Given the description of an element on the screen output the (x, y) to click on. 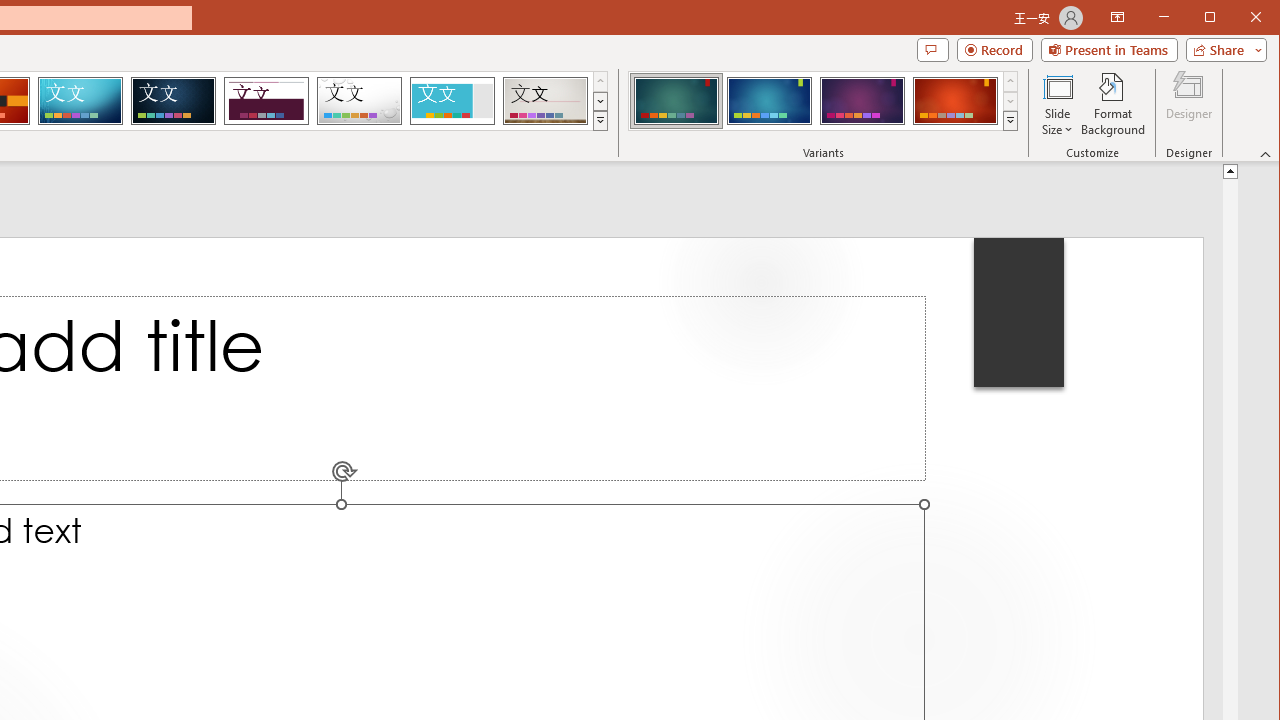
Slide Size (1057, 104)
Damask (173, 100)
Dividend (266, 100)
Circuit (80, 100)
Ion Variant 2 (769, 100)
Frame (452, 100)
Themes (600, 120)
Ion Variant 3 (862, 100)
Ion Variant 4 (955, 100)
Droplet (359, 100)
